Given the description of an element on the screen output the (x, y) to click on. 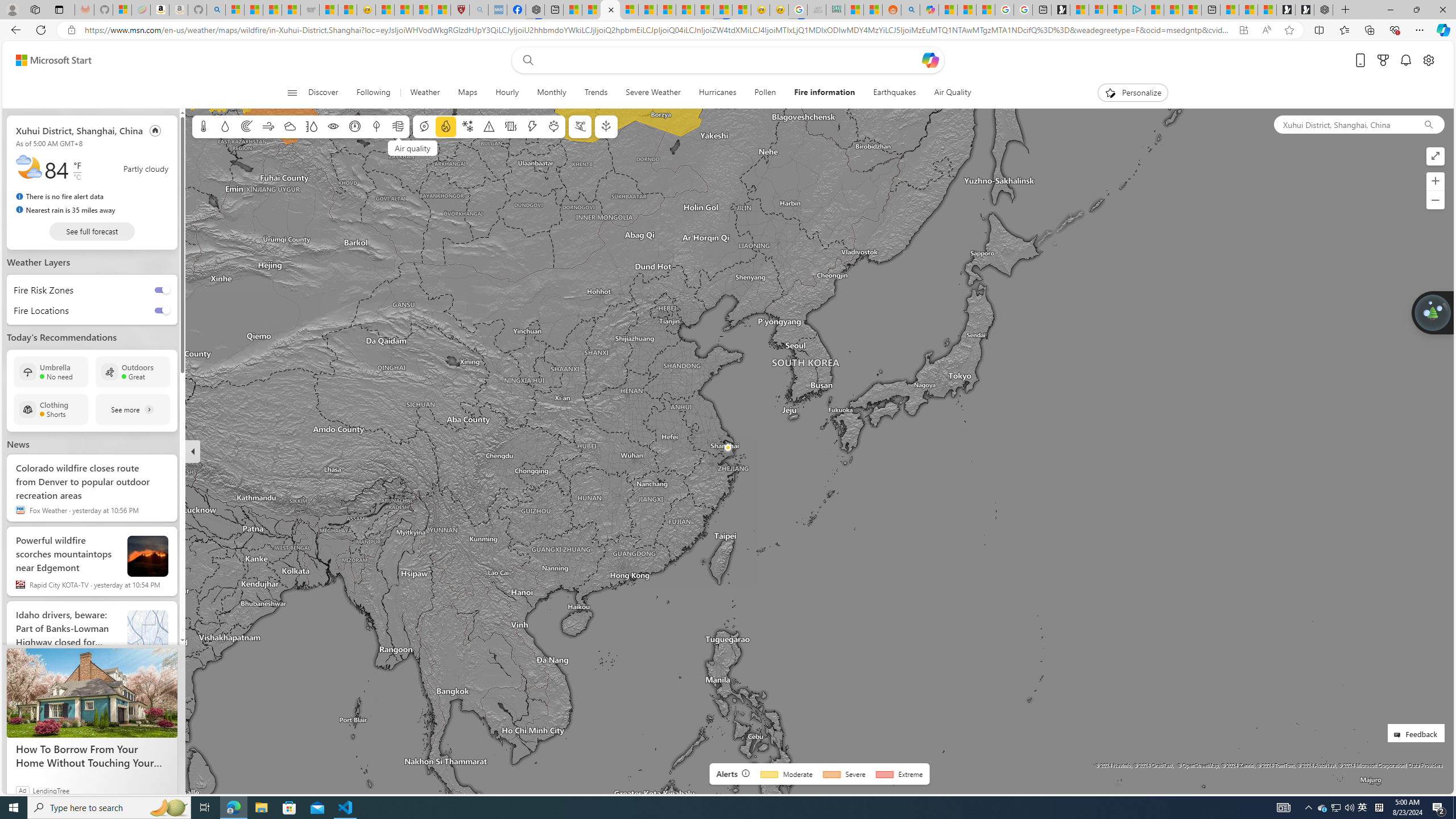
Umbrella No need (50, 371)
Dew point (376, 126)
Fire information (824, 92)
Class: feedback_link_icon-DS-EntryPoint1-1 (1399, 734)
Pollen (764, 92)
Fox Weather (20, 509)
